Given the description of an element on the screen output the (x, y) to click on. 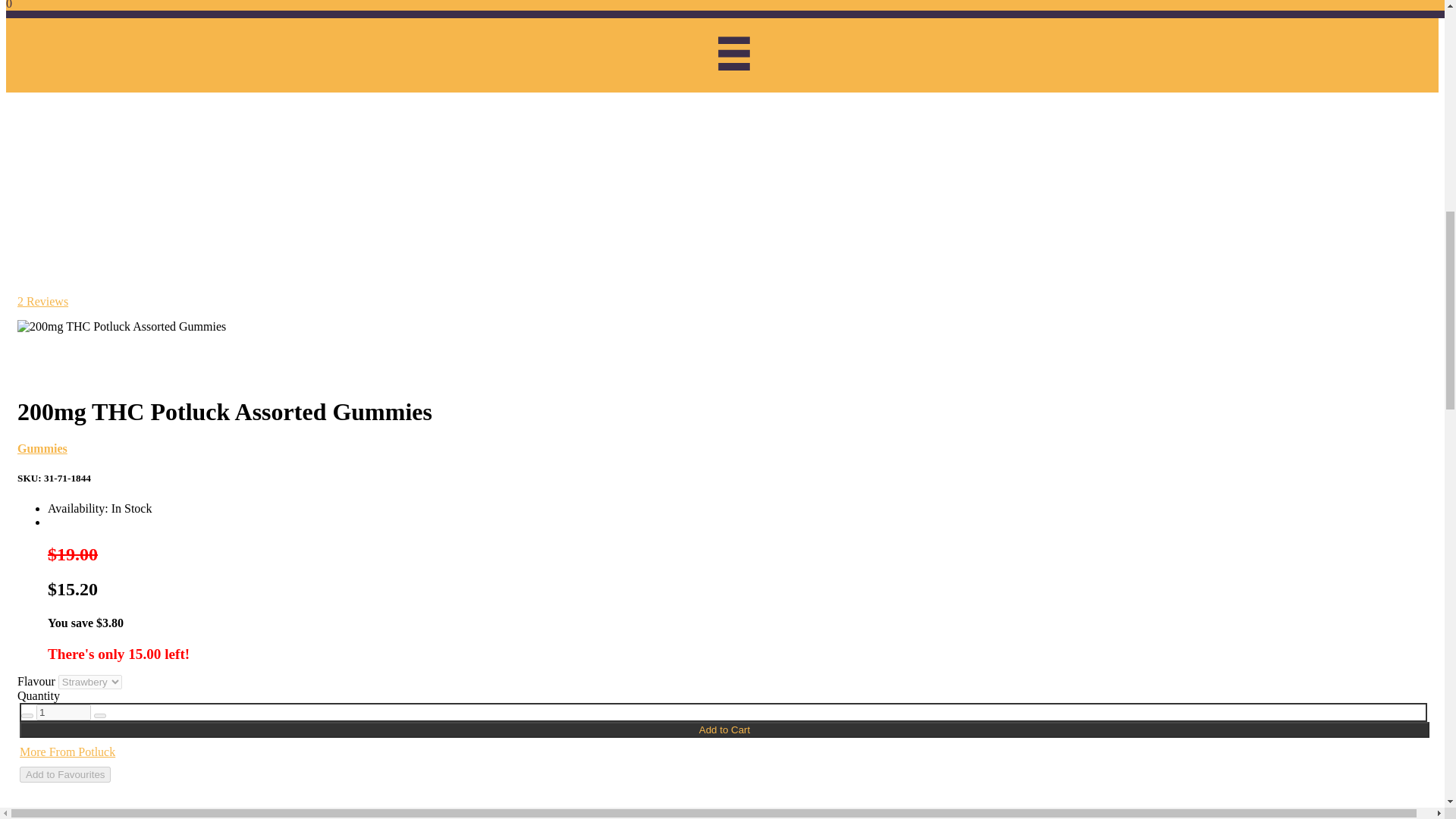
200mg THC Potluck Assorted Gummies (121, 326)
1 (63, 712)
Add to Cart (724, 729)
